Given the description of an element on the screen output the (x, y) to click on. 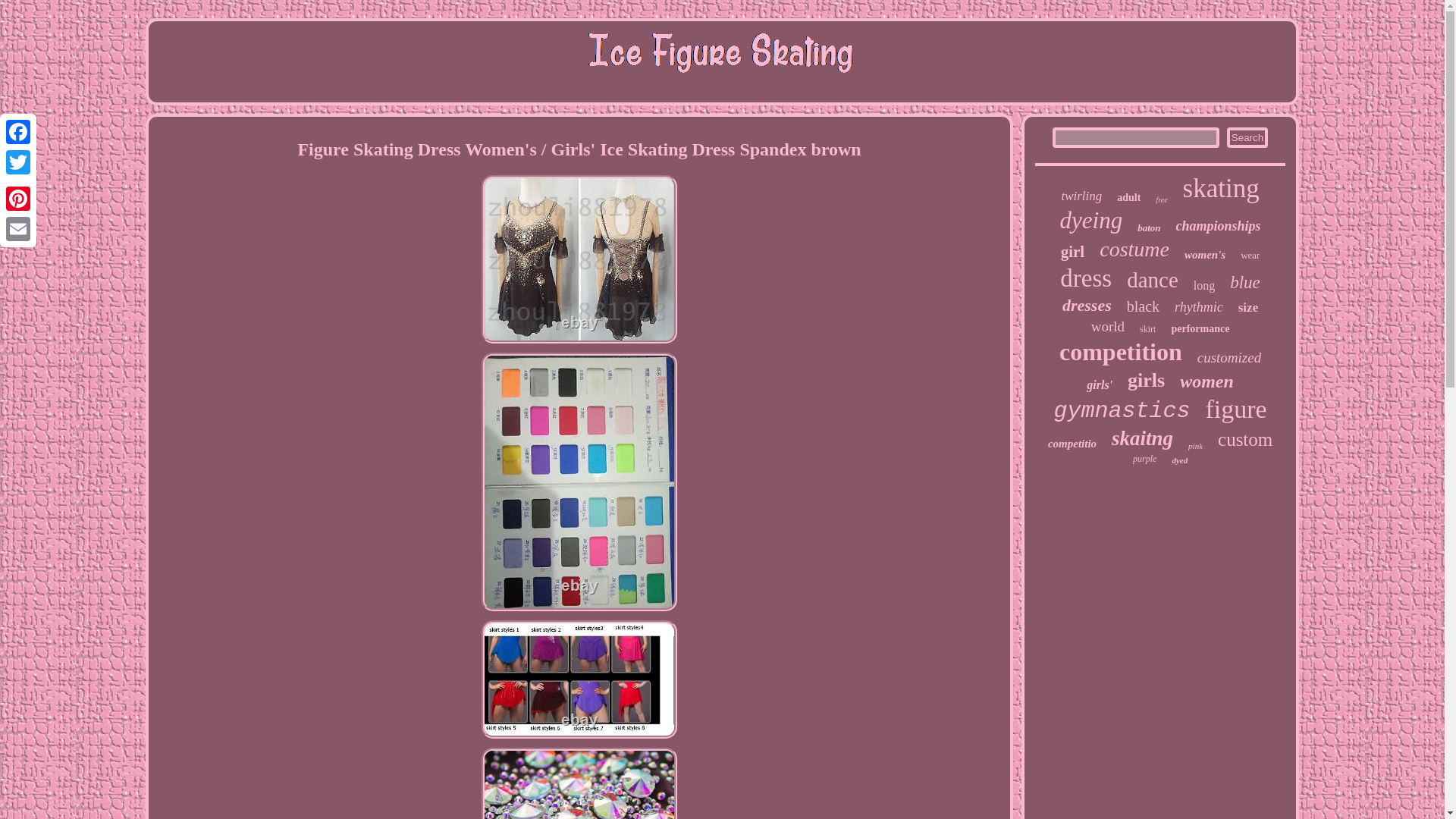
baton (1148, 227)
skating (1220, 188)
blue (1245, 282)
dyeing (1090, 220)
Email (17, 228)
Search (1247, 137)
wear (1249, 255)
championships (1218, 226)
dresses (1087, 305)
Search (1247, 137)
costume (1134, 249)
girl (1072, 251)
women's (1205, 254)
twirling (1081, 196)
long (1203, 285)
